Given the description of an element on the screen output the (x, y) to click on. 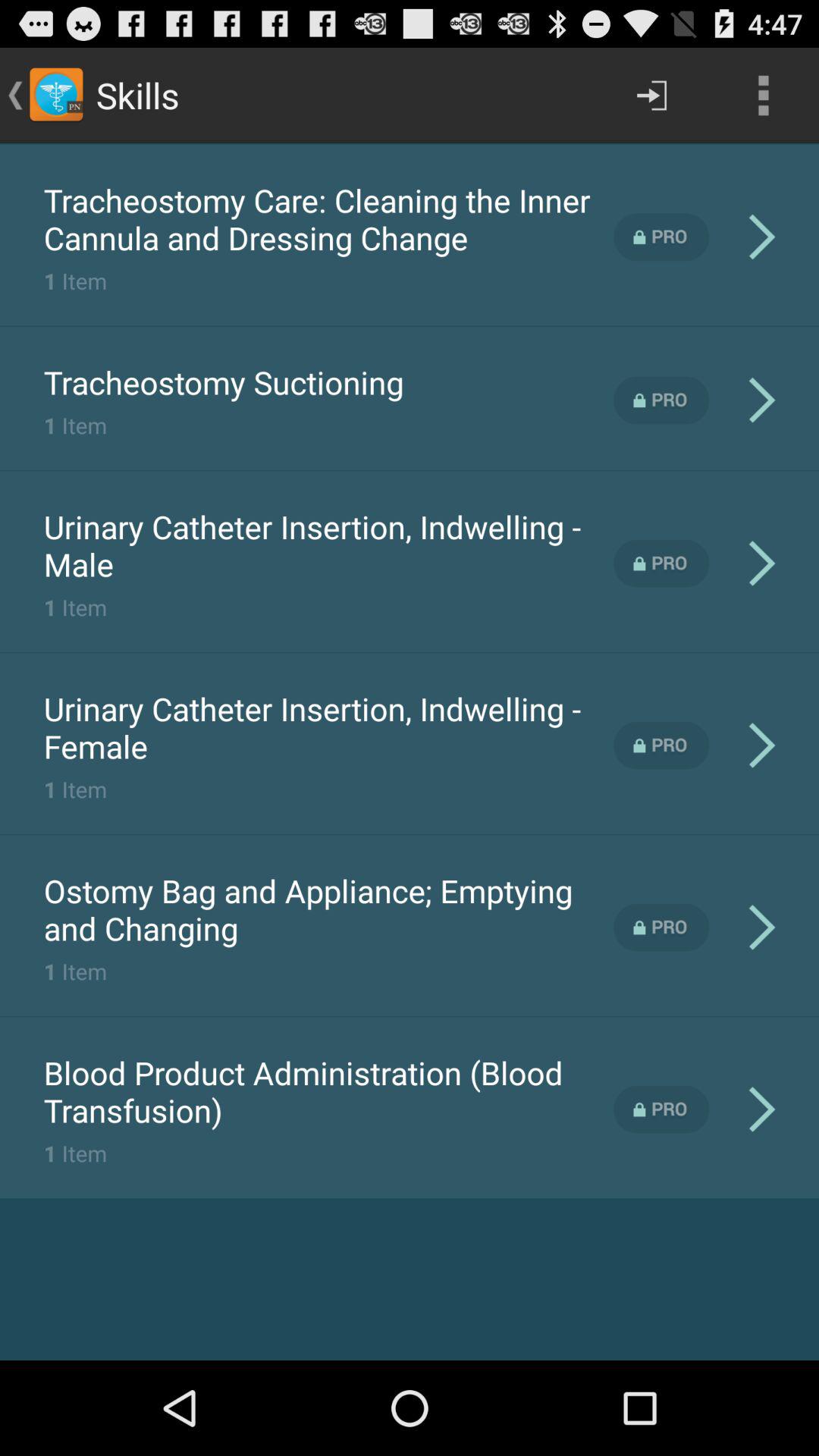
view locked pro options (661, 400)
